Given the description of an element on the screen output the (x, y) to click on. 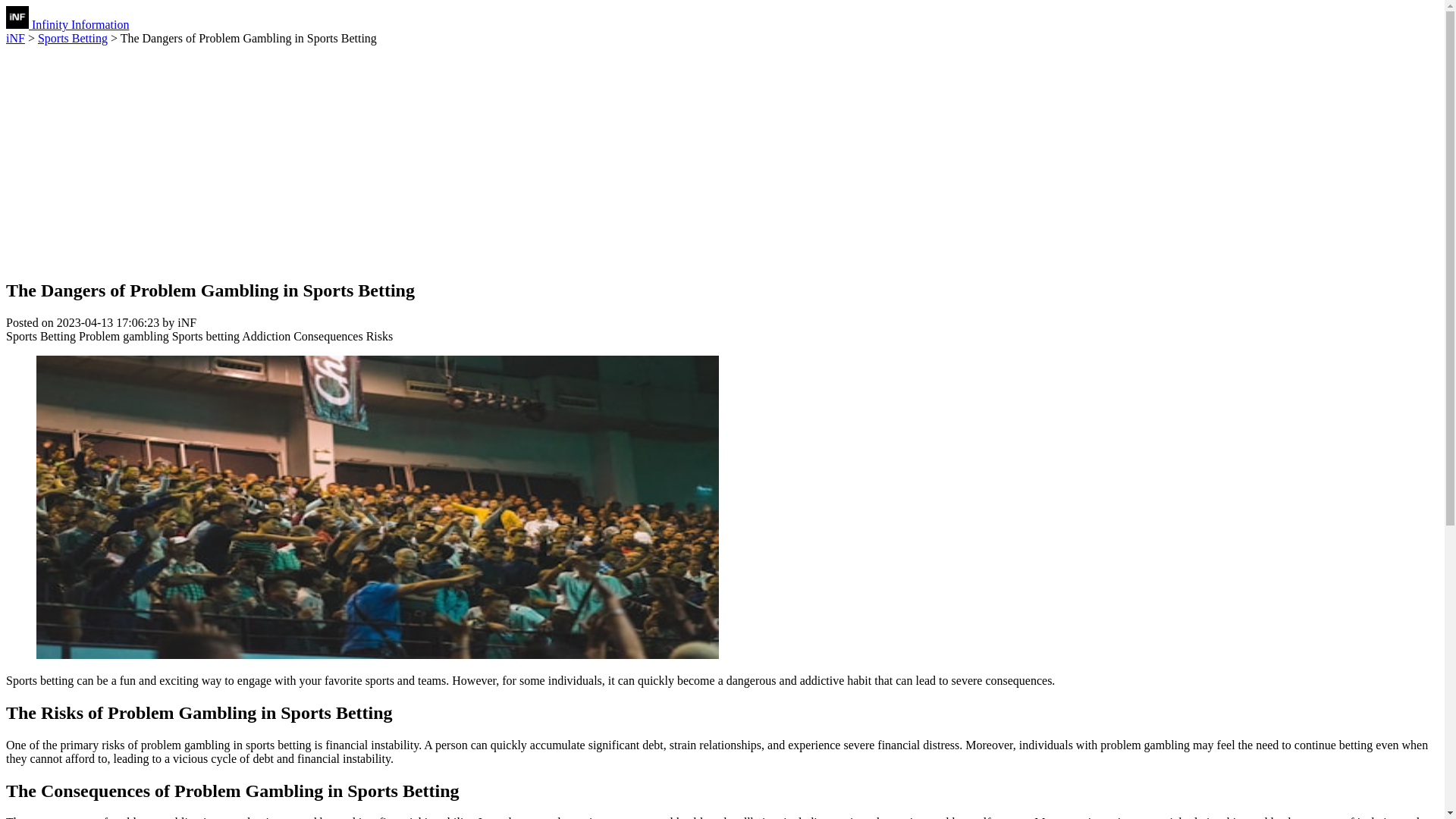
Sports Betting (40, 336)
Sports Betting (72, 38)
Consequences (328, 336)
Infinity Information (67, 24)
Risks (379, 336)
Problem gambling (123, 336)
Addiction (265, 336)
iNF (14, 38)
Sports betting (205, 336)
